Given the description of an element on the screen output the (x, y) to click on. 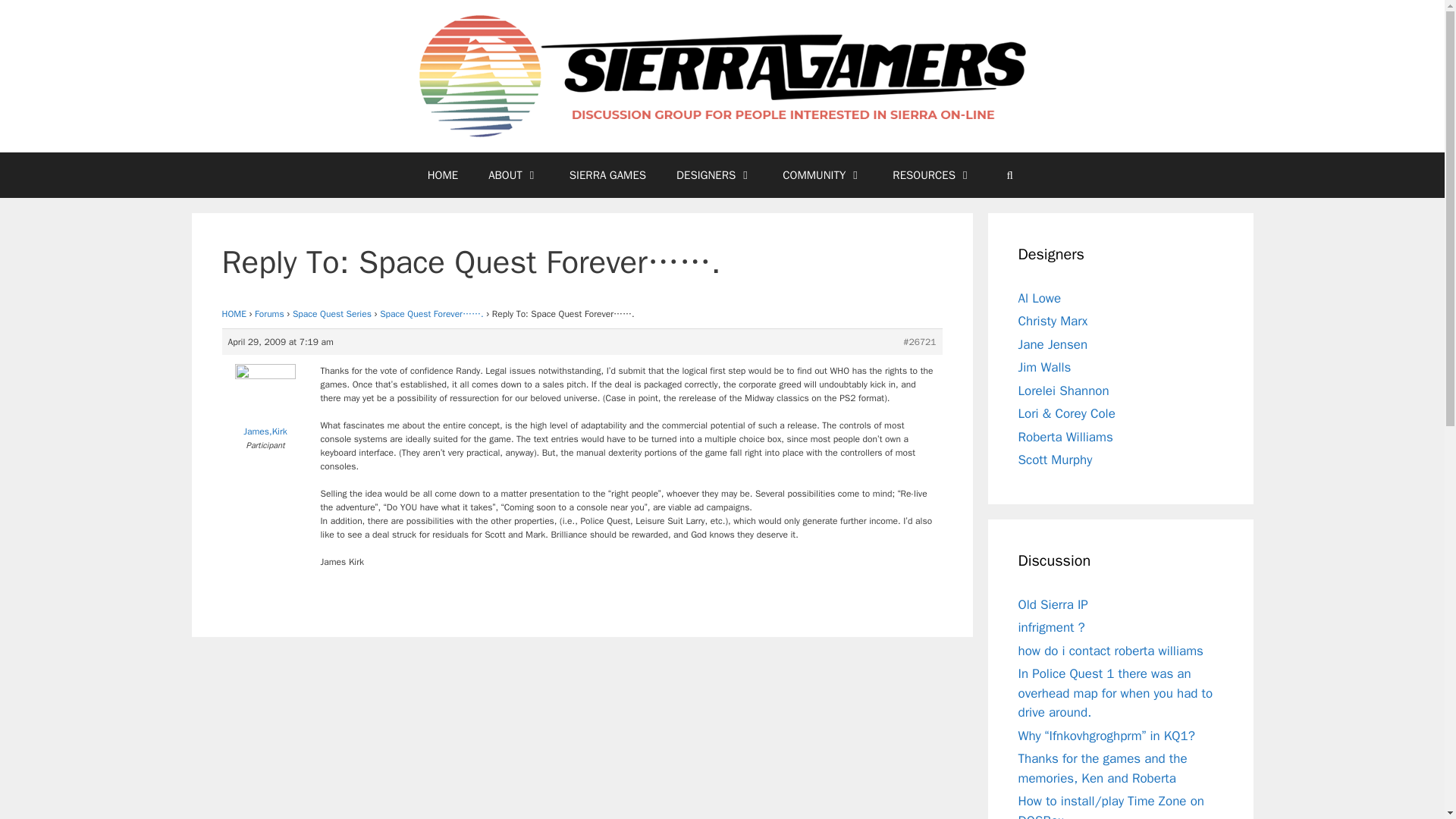
Christy Marx (1052, 320)
HOME (442, 175)
Al Lowe (1039, 298)
Space Quest Series (331, 313)
HOME (233, 313)
James,Kirk (264, 404)
ABOUT (513, 175)
COMMUNITY (822, 175)
Forums (268, 313)
DESIGNERS (714, 175)
SIERRA GAMES (607, 175)
View James,Kirk's profile (264, 404)
RESOURCES (932, 175)
